Given the description of an element on the screen output the (x, y) to click on. 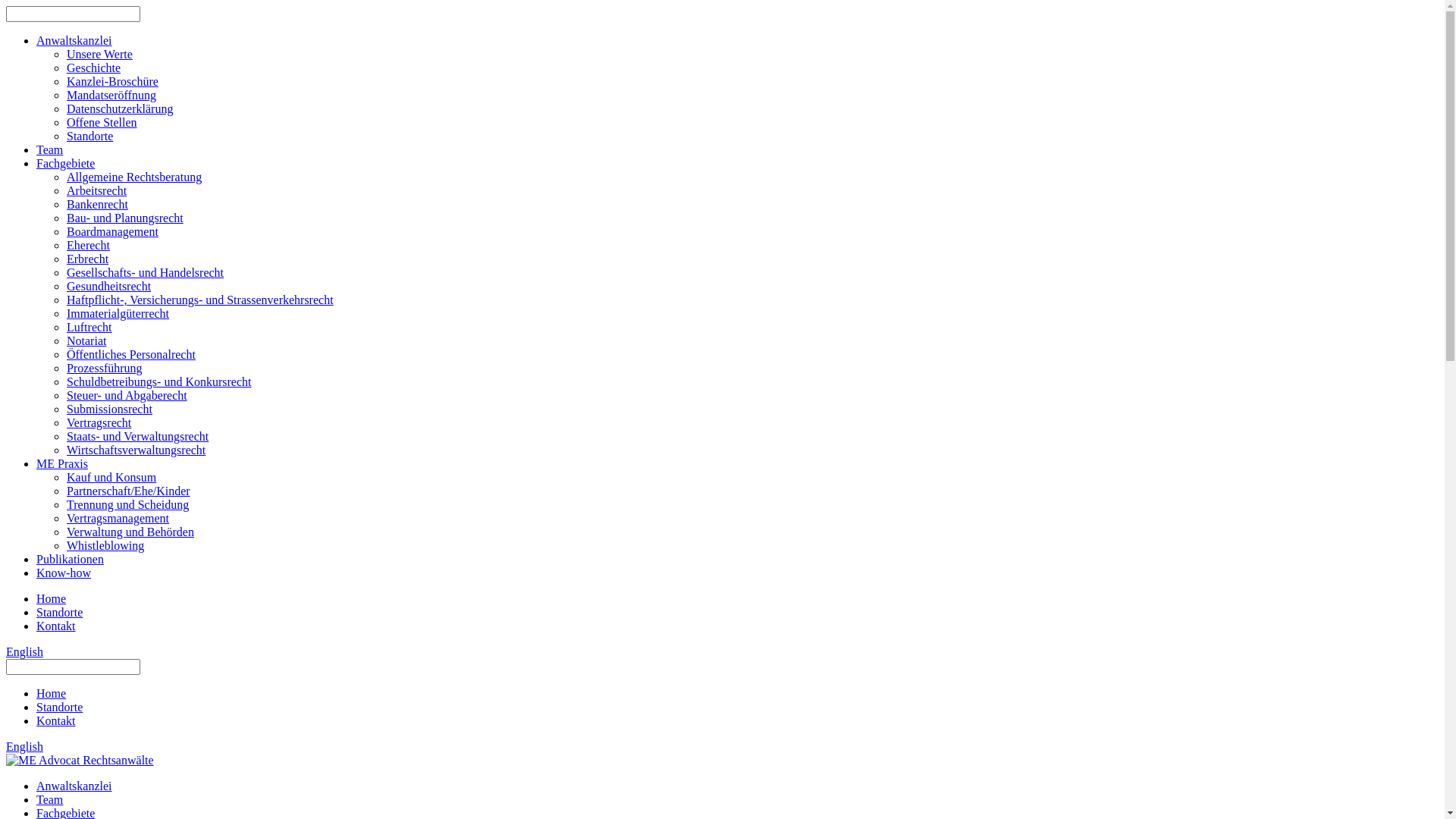
Home Element type: text (50, 693)
Kontakt Element type: text (55, 625)
Bankenrecht Element type: text (97, 203)
Submissionsrecht Element type: text (109, 408)
Haftpflicht-, Versicherungs- und Strassenverkehrsrecht Element type: text (199, 299)
Notariat Element type: text (86, 340)
Trennung und Scheidung Element type: text (127, 504)
Unsere Werte Element type: text (99, 53)
Standorte Element type: text (59, 706)
English Element type: text (24, 746)
Partnerschaft/Ehe/Kinder Element type: text (128, 490)
Gesundheitsrecht Element type: text (108, 285)
ME Praxis Element type: text (61, 463)
Wirtschaftsverwaltungsrecht Element type: text (135, 449)
Gesellschafts- und Handelsrecht Element type: text (144, 272)
Erbrecht Element type: text (87, 258)
Anwaltskanzlei Element type: text (74, 785)
Bau- und Planungsrecht Element type: text (124, 217)
Whistleblowing Element type: text (105, 545)
Fachgebiete Element type: text (65, 162)
Anwaltskanzlei Element type: text (74, 40)
Standorte Element type: text (59, 611)
Schuldbetreibungs- und Konkursrecht Element type: text (158, 381)
Staats- und Verwaltungsrecht Element type: text (137, 435)
English Element type: text (24, 651)
Standorte Element type: text (89, 135)
Kontakt Element type: text (55, 720)
Steuer- und Abgaberecht Element type: text (126, 395)
Home Element type: text (50, 598)
Boardmanagement Element type: text (112, 231)
Vertragsmanagement Element type: text (117, 517)
Allgemeine Rechtsberatung Element type: text (133, 176)
Team Element type: text (49, 799)
Geschichte Element type: text (93, 67)
Know-how Element type: text (63, 572)
Kauf und Konsum Element type: text (111, 476)
Team Element type: text (49, 149)
Publikationen Element type: text (69, 558)
Luftrecht Element type: text (89, 326)
Vertragsrecht Element type: text (98, 422)
Eherecht Element type: text (87, 244)
Offene Stellen Element type: text (101, 122)
Arbeitsrecht Element type: text (96, 190)
